Given the description of an element on the screen output the (x, y) to click on. 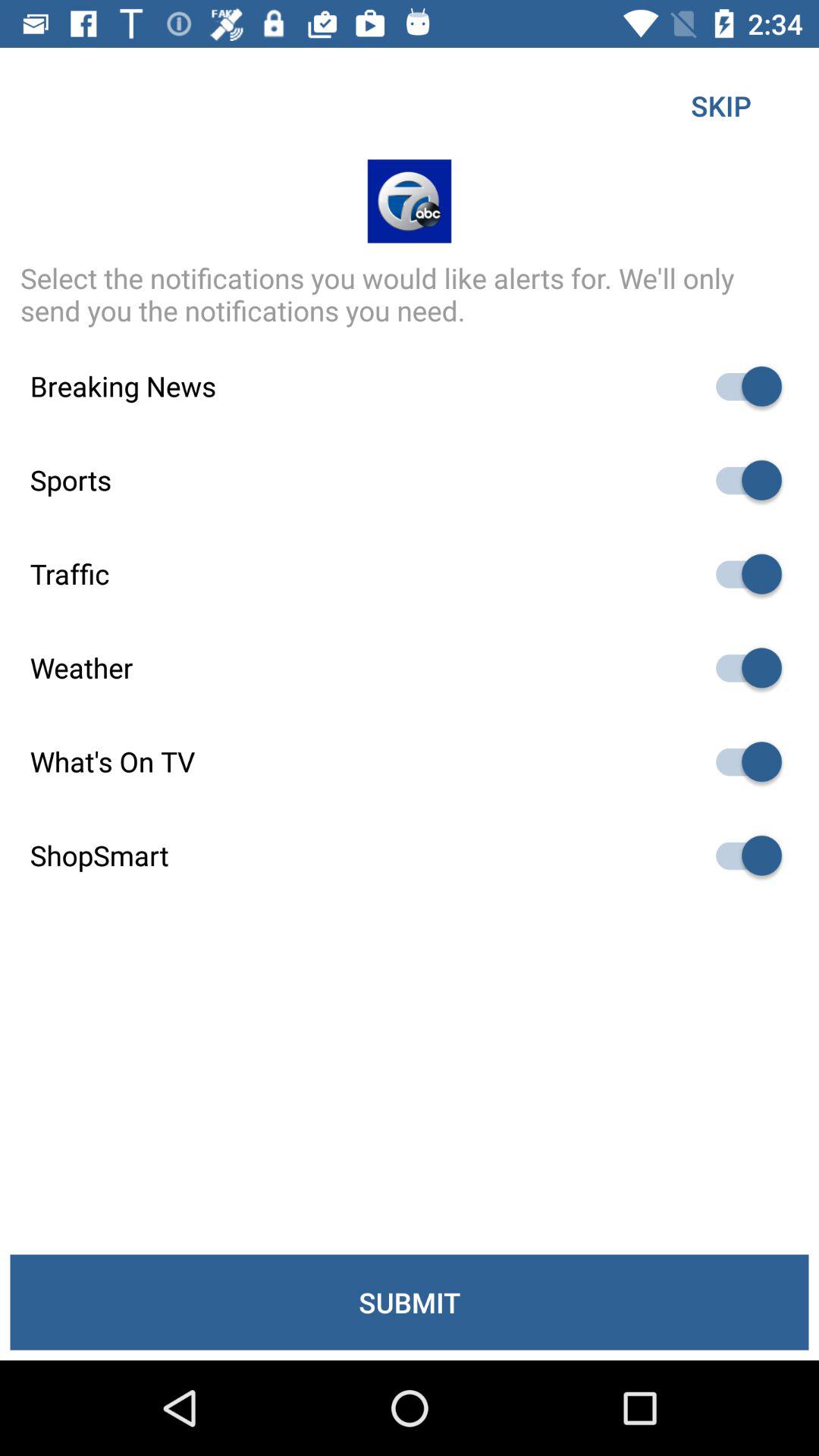
switch auto play option (741, 761)
